Given the description of an element on the screen output the (x, y) to click on. 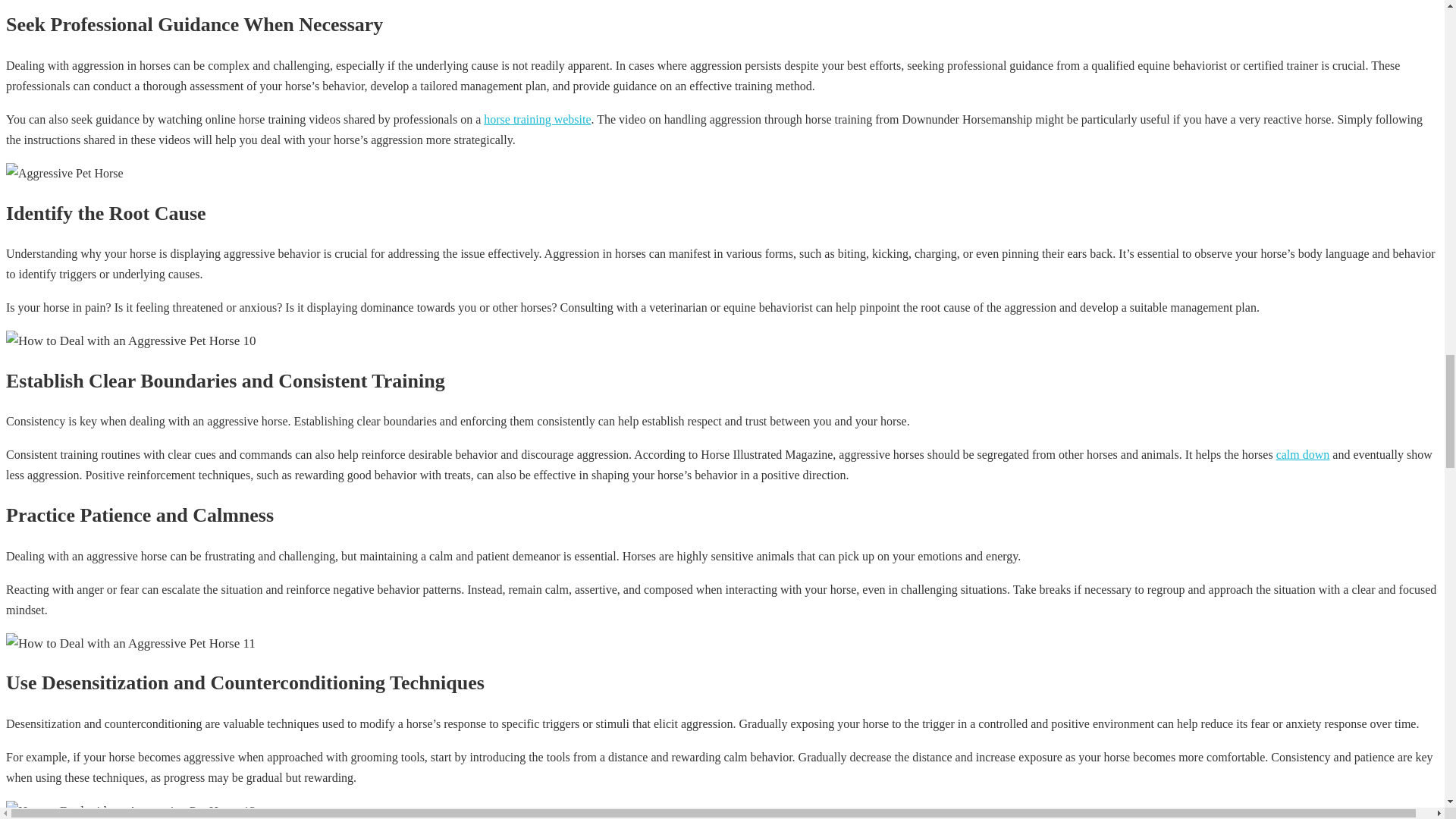
How to Deal with an Aggressive Pet Horse 12 (64, 172)
